Given the description of an element on the screen output the (x, y) to click on. 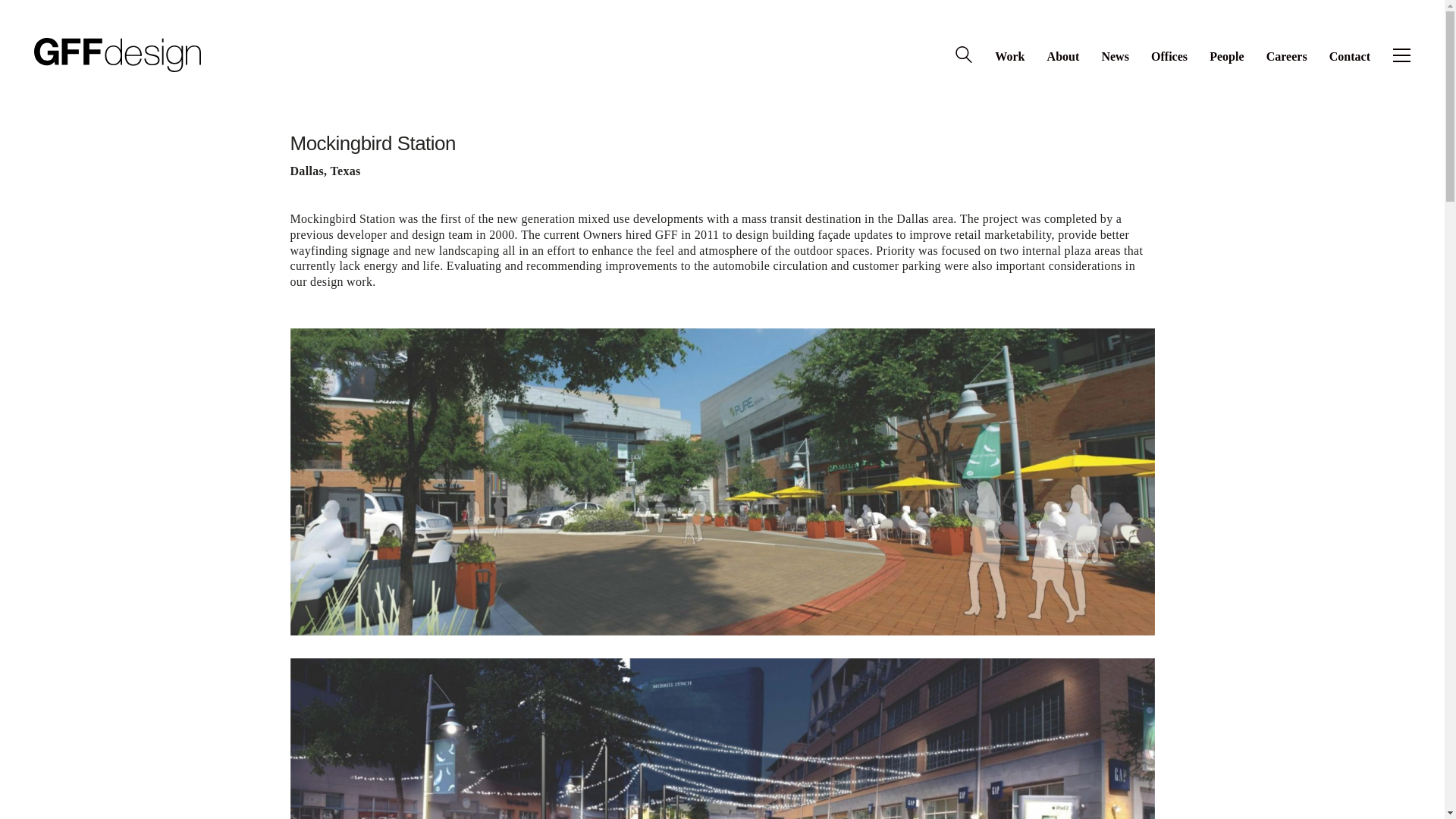
Contact (1349, 56)
About (1063, 56)
Offices (1169, 56)
News (1114, 56)
Work (1009, 56)
People (1226, 56)
Careers (1286, 56)
